Given the description of an element on the screen output the (x, y) to click on. 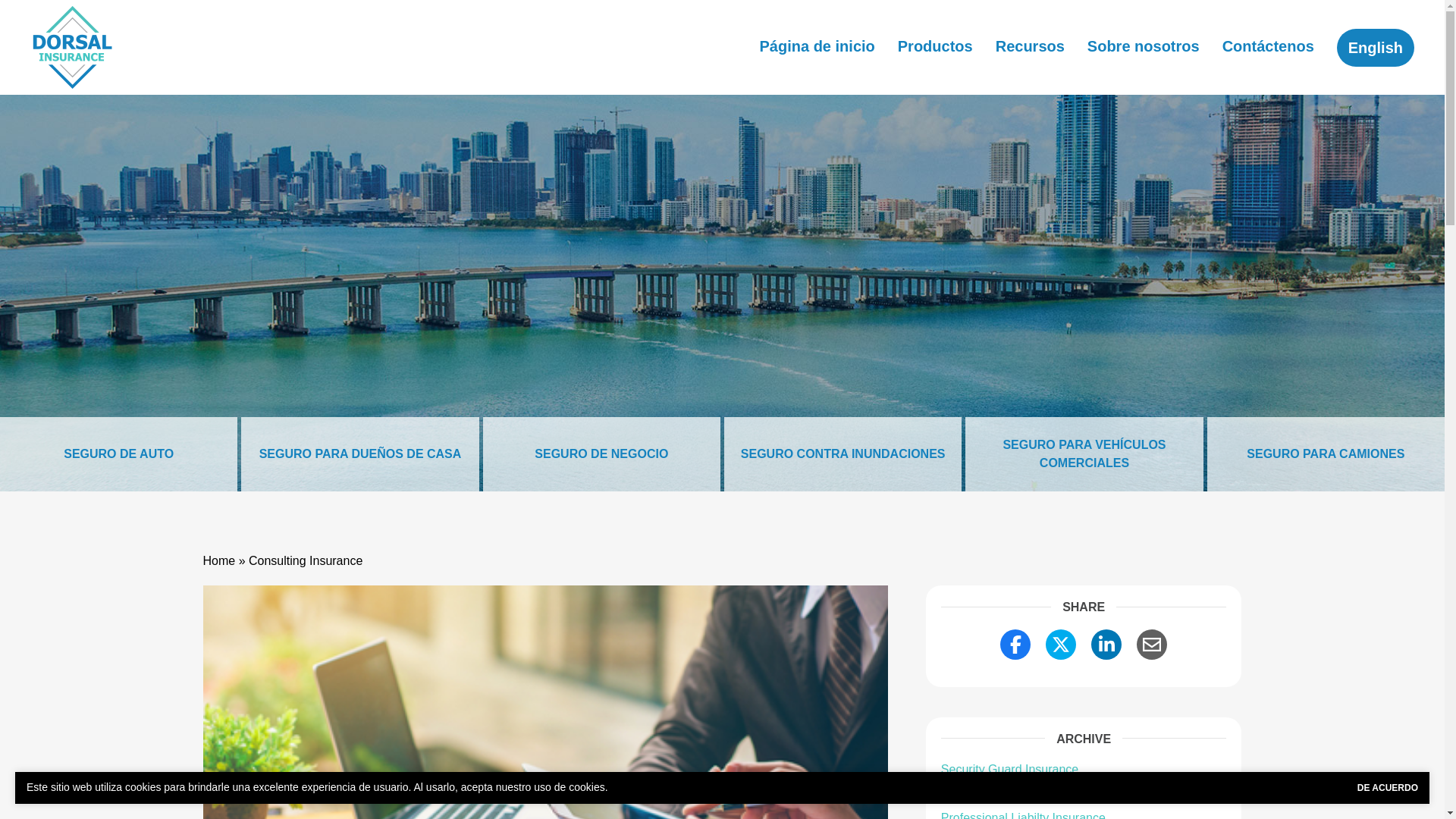
Productos (935, 46)
Share Link to Twitter (1060, 644)
SEGURO DE AUTO (118, 453)
Sobre nosotros (1143, 46)
Recursos (1029, 46)
Share Link to LinkedIn (1105, 644)
English (1374, 47)
Share Link to Facebook (1015, 644)
SEGURO DE NEGOCIO (601, 453)
English (1374, 47)
SEGURO CONTRA INUNDACIONES (841, 453)
Home (219, 560)
